Given the description of an element on the screen output the (x, y) to click on. 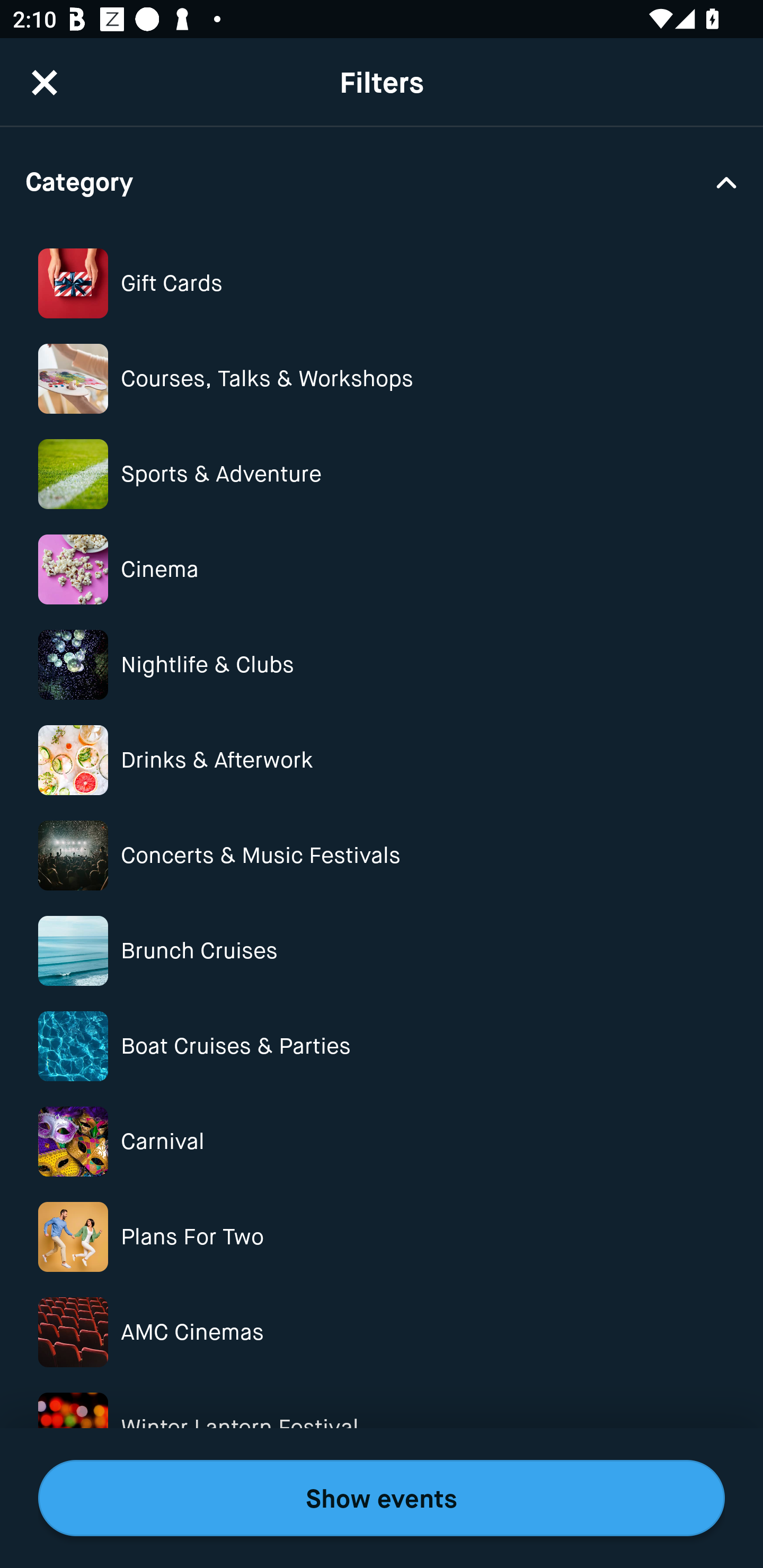
Category Drop Down Arrow (381, 181)
Category Image Gift Cards (381, 282)
Category Image Courses, Talks & Workshops (381, 378)
Category Image Sports & Adventure (381, 473)
Category Image Cinema (381, 569)
Category Image Nightlife & Clubs (381, 664)
Category Image Drinks & Afterwork (381, 759)
Category Image Concerts & Music Festivals (381, 854)
Category Image Brunch Cruises (381, 950)
Category Image Boat Cruises & Parties (381, 1046)
Category Image Carnival (381, 1141)
Category Image Plans For Two (381, 1236)
Category Image AMC Cinemas (381, 1331)
Show events (381, 1497)
